Given the description of an element on the screen output the (x, y) to click on. 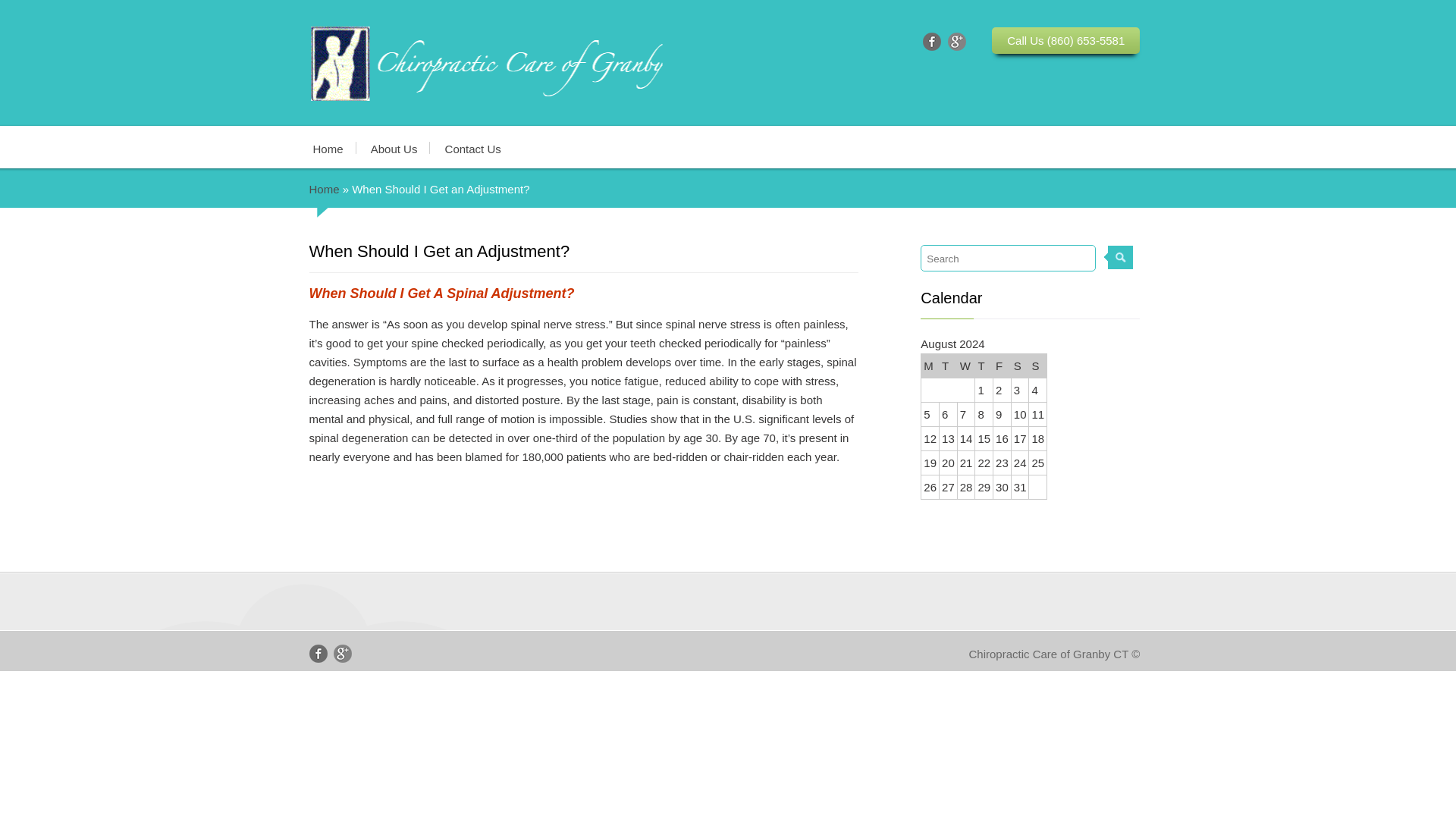
About Us (393, 148)
Facebook (931, 41)
Facebook (317, 653)
Search (1008, 257)
Google Plus (342, 653)
Home (334, 148)
Google Plus (956, 41)
